Given the description of an element on the screen output the (x, y) to click on. 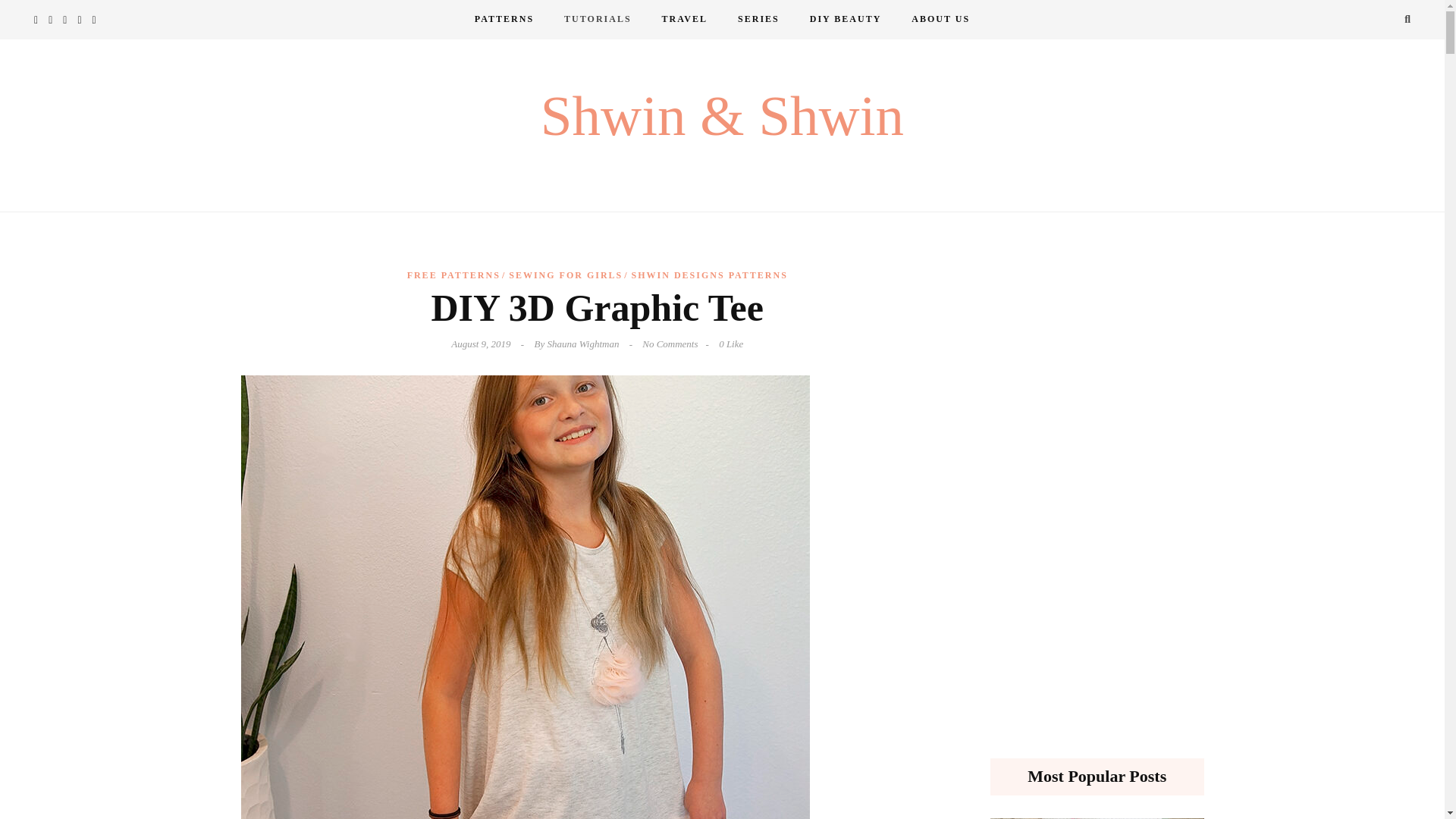
Like this (730, 344)
